Given the description of an element on the screen output the (x, y) to click on. 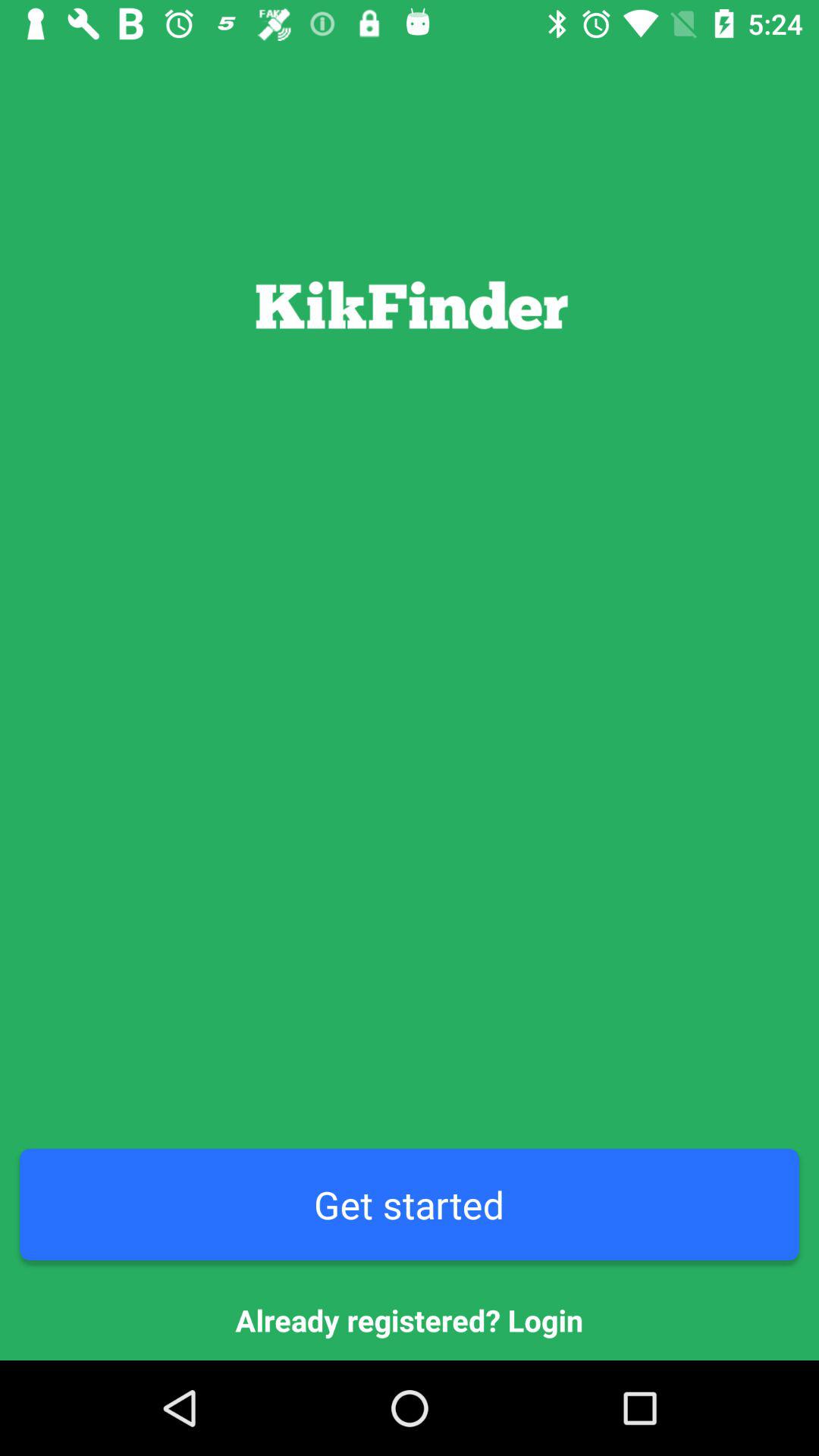
flip until the already registered? login icon (409, 1320)
